Given the description of an element on the screen output the (x, y) to click on. 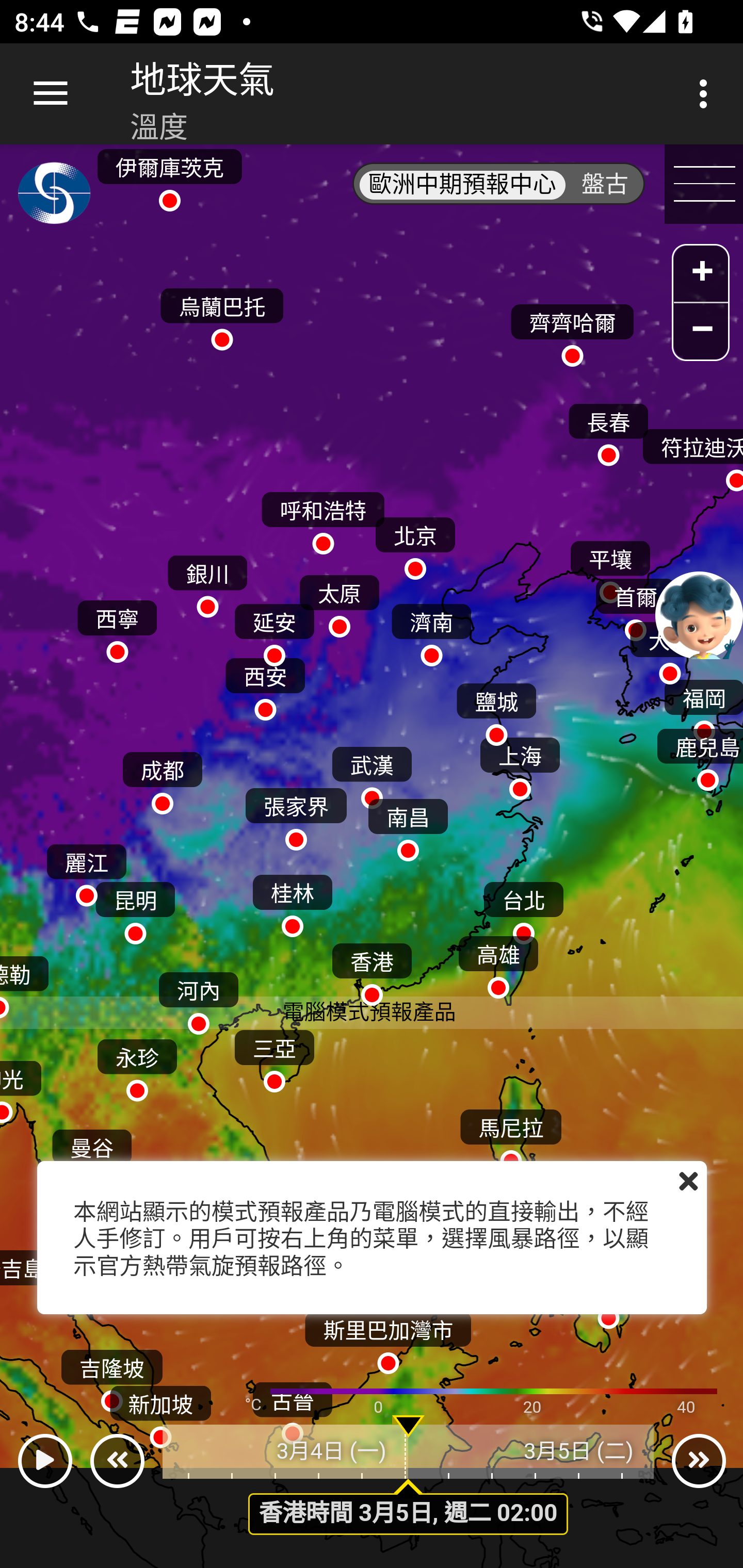
向上瀏覽 (50, 93)
更多選項 (706, 93)
香港天文台 (54, 197)
菜單按鈕 (703, 184)
伊爾庫茨克 (169, 174)
歐洲中期預報中心 (461, 184)
盤古 (604, 184)
Zoom in (700, 275)
烏蘭巴托 (222, 314)
齊齊哈爾 (572, 330)
Zoom out (700, 331)
長春 (608, 429)
符拉迪沃斯托克 (691, 456)
呼和浩特 (323, 518)
北京 (414, 543)
平壤 (609, 567)
銀川 (207, 581)
聊天機械人 (699, 614)
太原 (338, 600)
首爾 (634, 604)
西寧 (117, 625)
延安 (273, 629)
濟南 (431, 629)
西安 (264, 683)
福岡 (702, 705)
鹽城 (495, 709)
鹿兒島 (699, 755)
上海 (519, 763)
武漢 (371, 772)
成都 (161, 778)
張家界 (295, 815)
南昌 (407, 825)
麗江 (85, 870)
桂林 (292, 901)
昆明 (134, 908)
台北 (523, 908)
高雄 (497, 962)
香港 (371, 970)
河內 (197, 998)
三亞 (273, 1055)
永珍 (136, 1066)
馬尼拉 (510, 1134)
曼谷 (91, 1155)
 (687, 1181)
斯里巴加灣市 (388, 1337)
吉隆坡 (111, 1376)
古晉 (292, 1408)
新加坡 (160, 1412)
 (44, 1461)
上一時段 (117, 1461)
下一時段 (699, 1461)
